Given the description of an element on the screen output the (x, y) to click on. 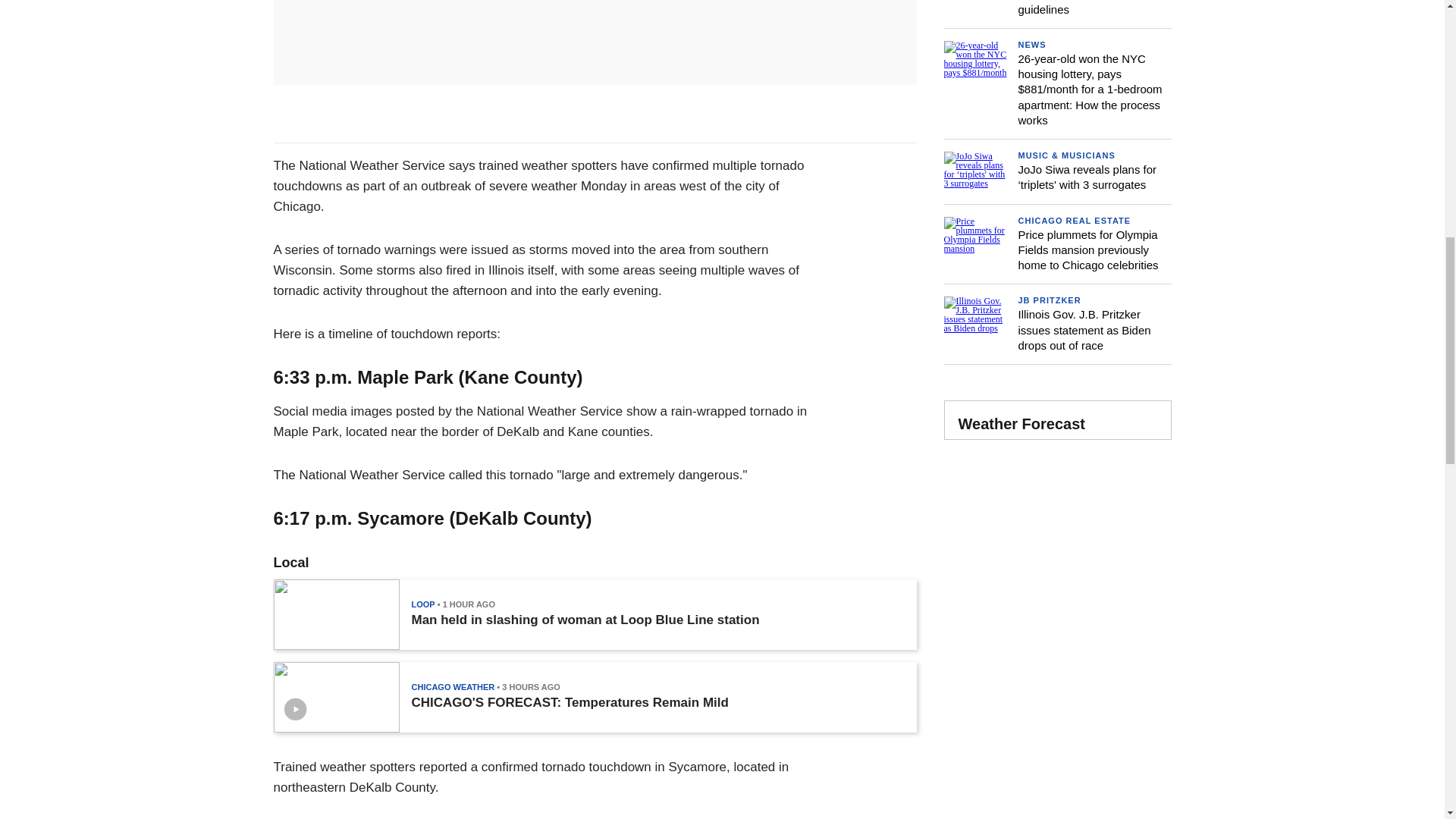
CHICAGO WEATHER (452, 686)
CHICAGO'S FORECAST: Temperatures Remain Mild (569, 702)
LOOP (421, 604)
Man held in slashing of woman at Loop Blue Line station (584, 620)
